Given the description of an element on the screen output the (x, y) to click on. 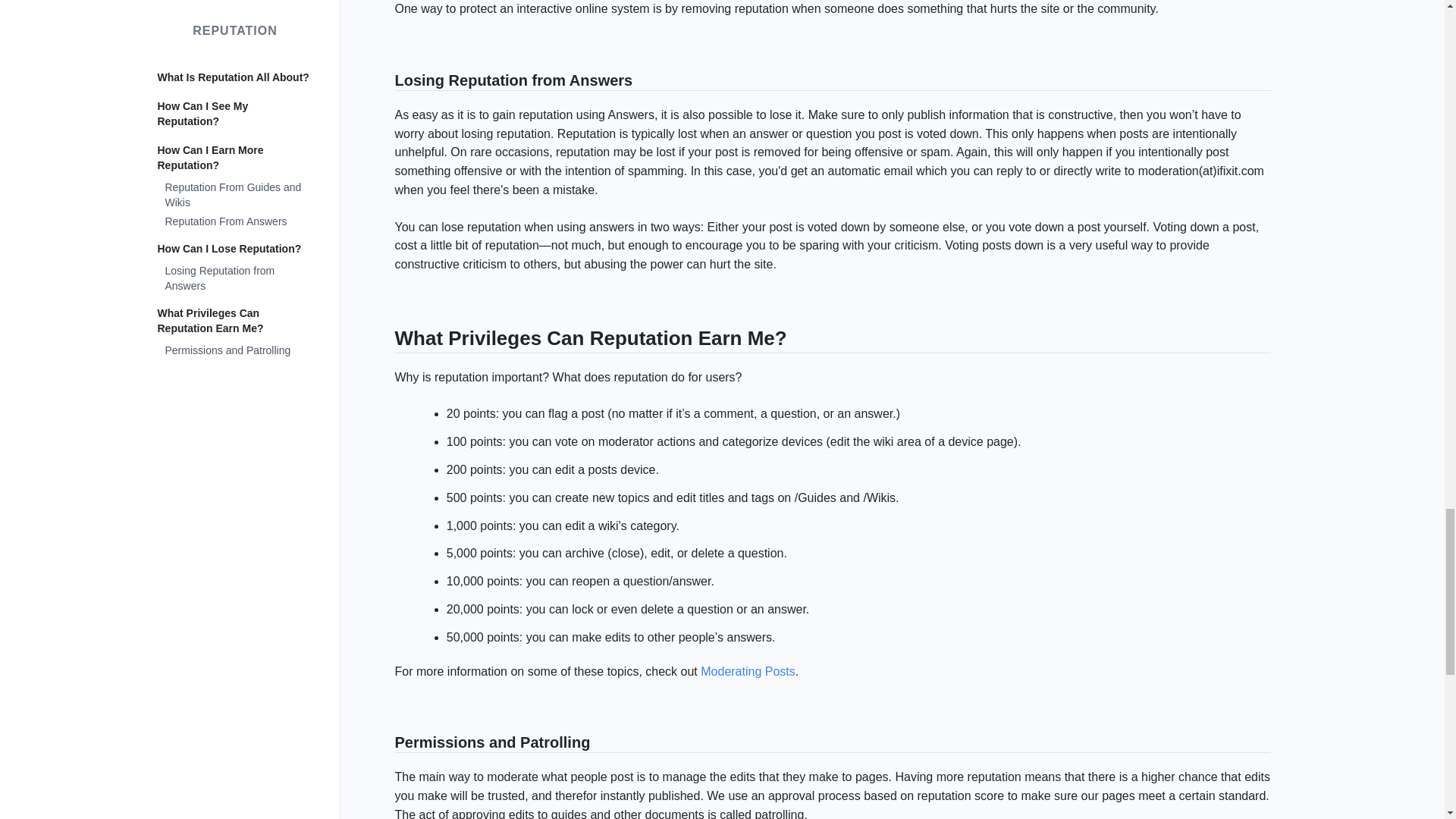
Link to this section (386, 743)
Moderating Posts (747, 670)
Link to this section (386, 81)
Link to this section (386, 340)
